Given the description of an element on the screen output the (x, y) to click on. 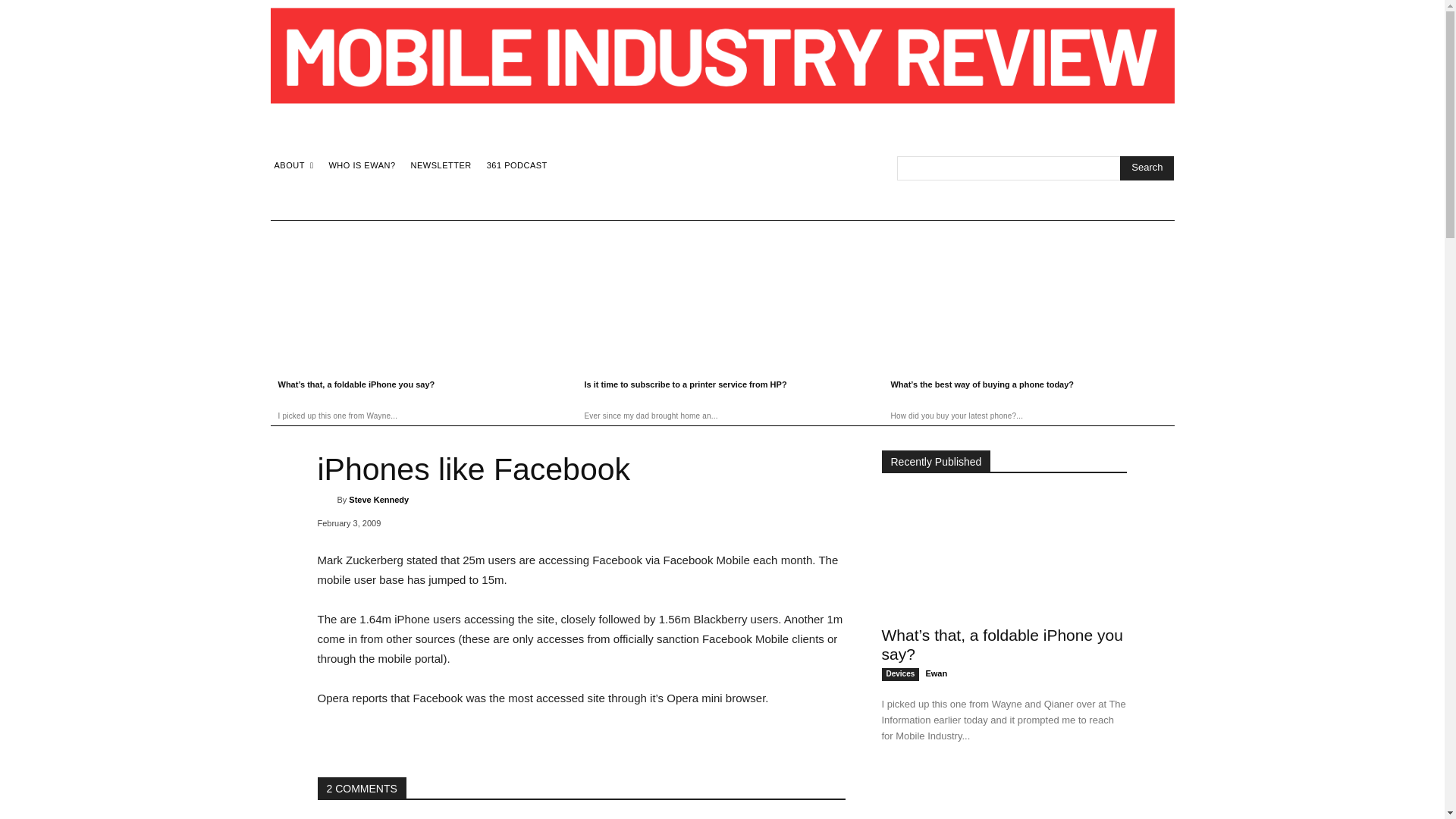
Devices (899, 674)
361 PODCAST (517, 165)
Steve Kennedy (326, 499)
Search (1146, 168)
ABOUT (293, 165)
Ewan (935, 673)
Is it time to subscribe to a printer service from HP? (1003, 795)
Is it time to subscribe to a printer service from HP? (721, 297)
Is it time to subscribe to a printer service from HP? (684, 384)
Steve Kennedy (379, 499)
